Given the description of an element on the screen output the (x, y) to click on. 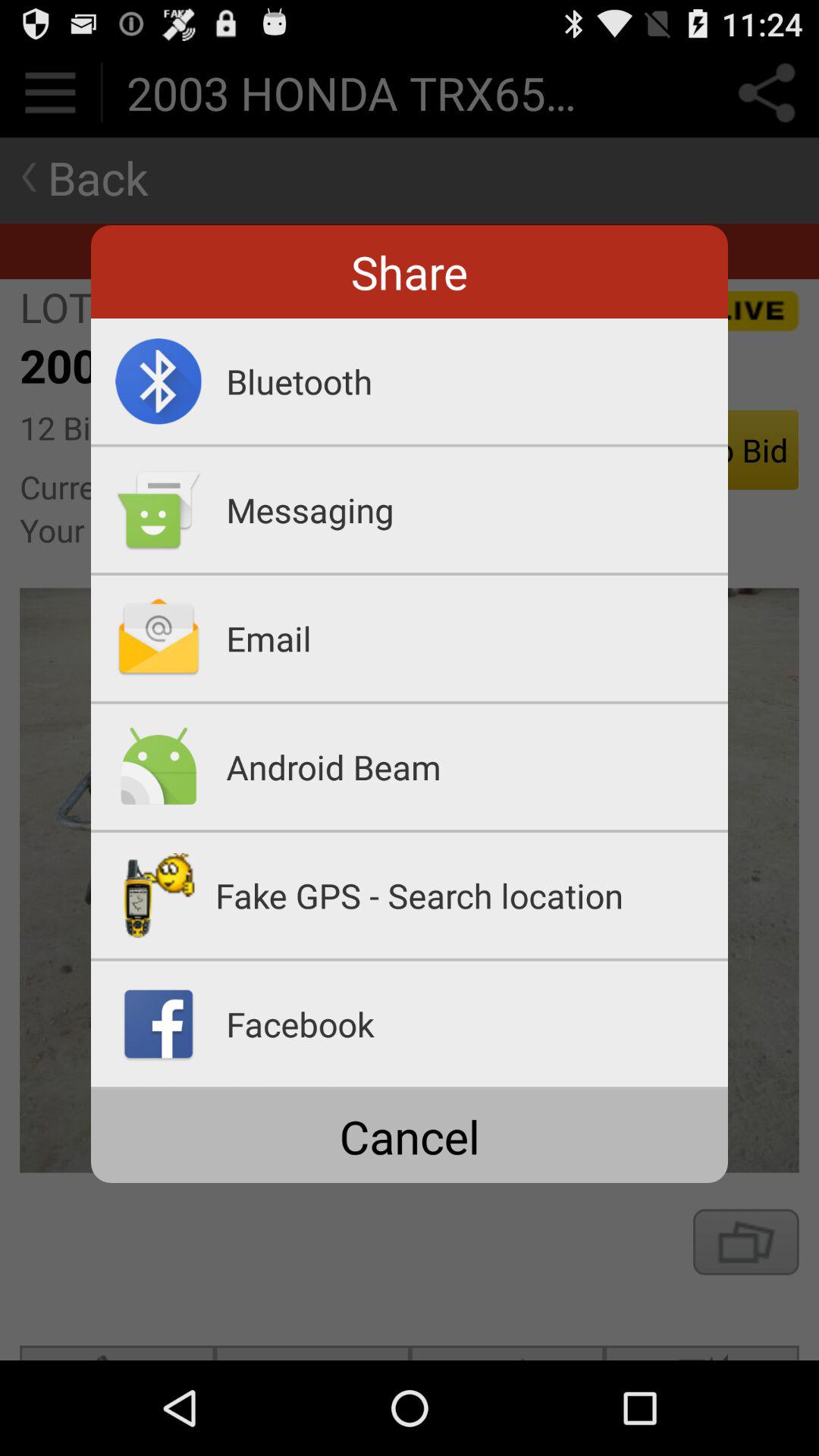
swipe until android beam (477, 766)
